Given the description of an element on the screen output the (x, y) to click on. 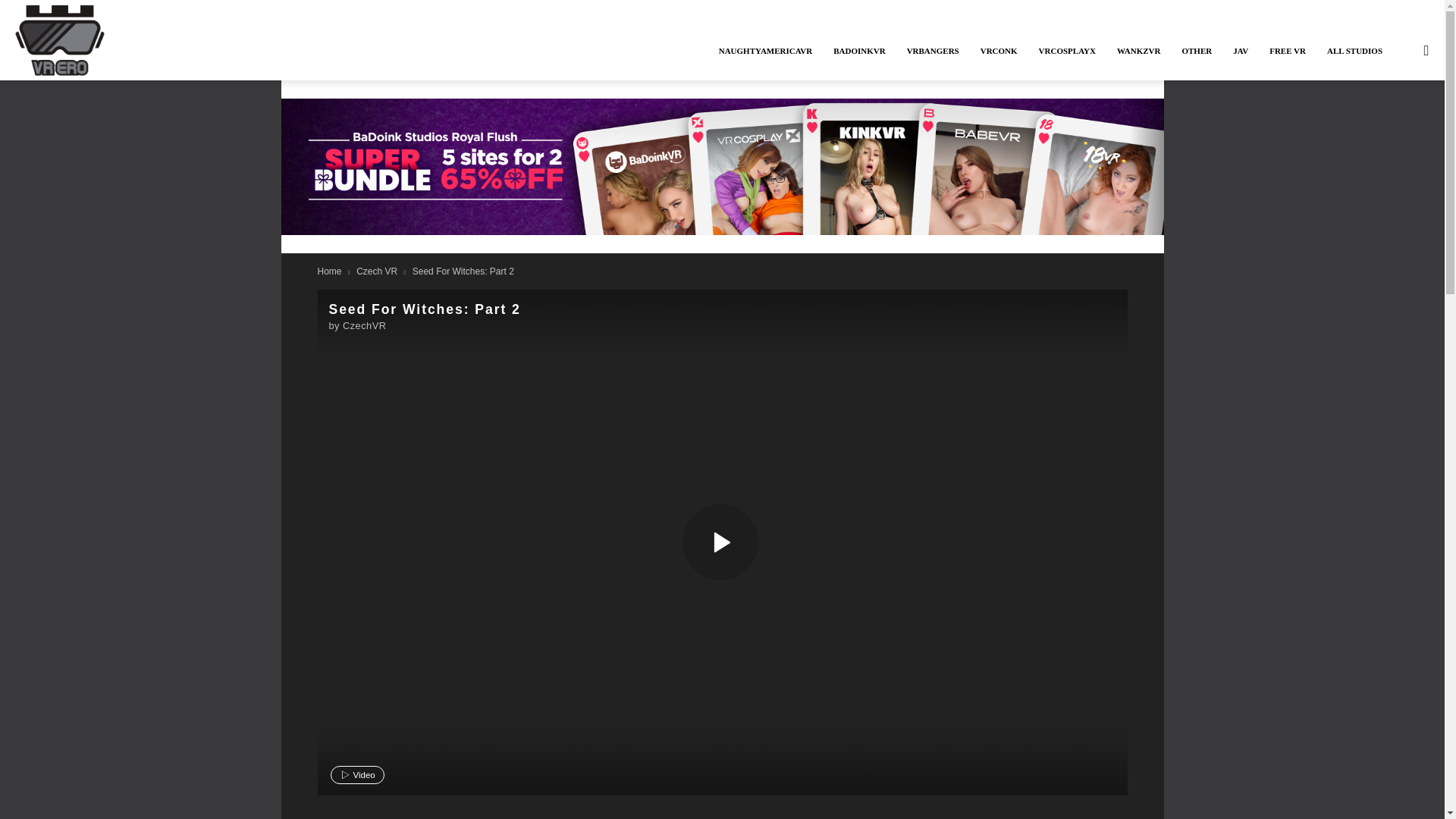
Seed For Witches: Part 2 (720, 541)
View all posts in Czech VR (376, 271)
VR Porn Hub (1082, 313)
